Given the description of an element on the screen output the (x, y) to click on. 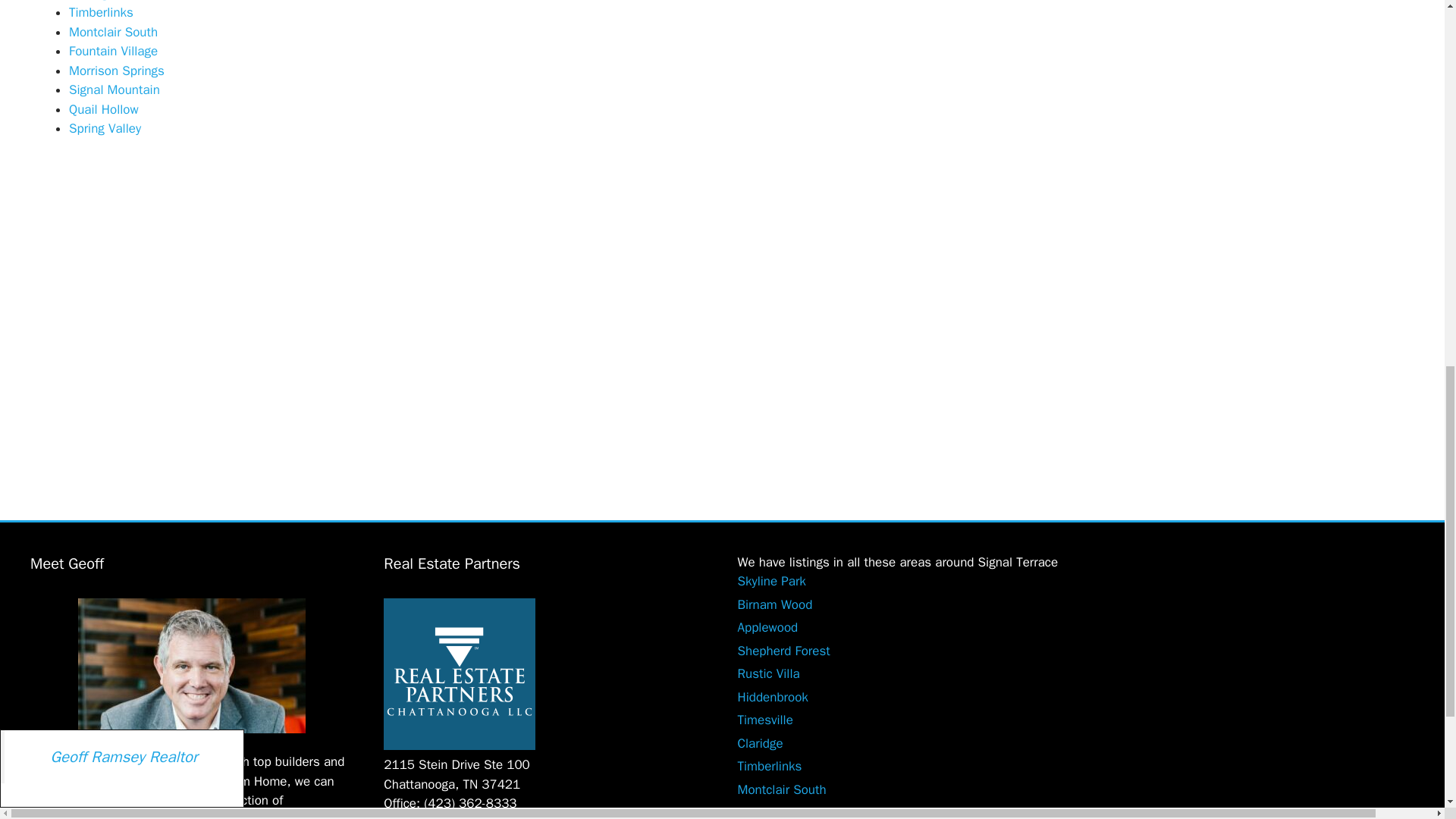
Fountain Village (112, 50)
Scroll back to top (1406, 708)
Montclair South (112, 32)
Timberlinks (100, 12)
Claridge (91, 0)
